Given the description of an element on the screen output the (x, y) to click on. 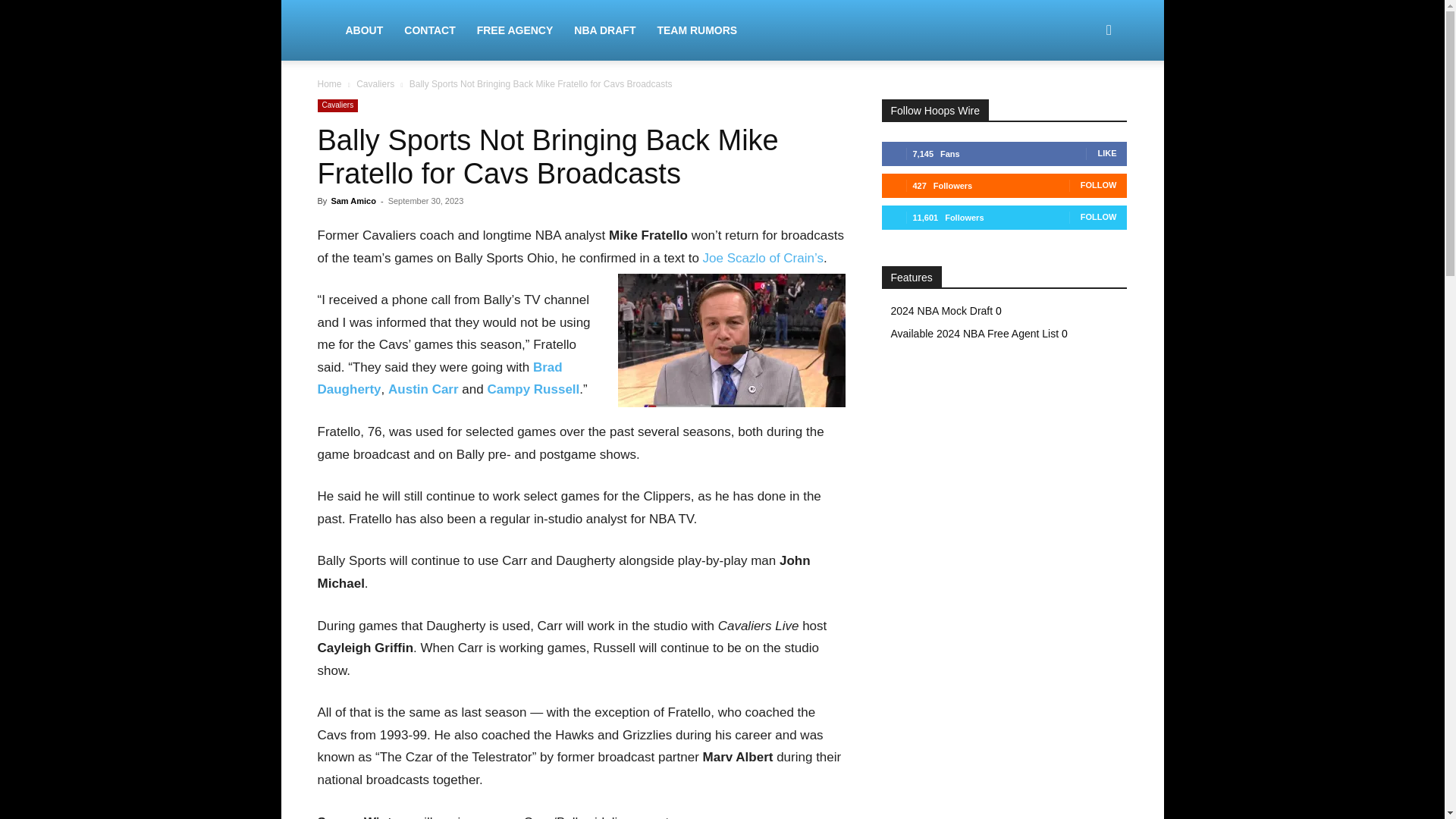
View all posts in Cavaliers (375, 83)
